Given the description of an element on the screen output the (x, y) to click on. 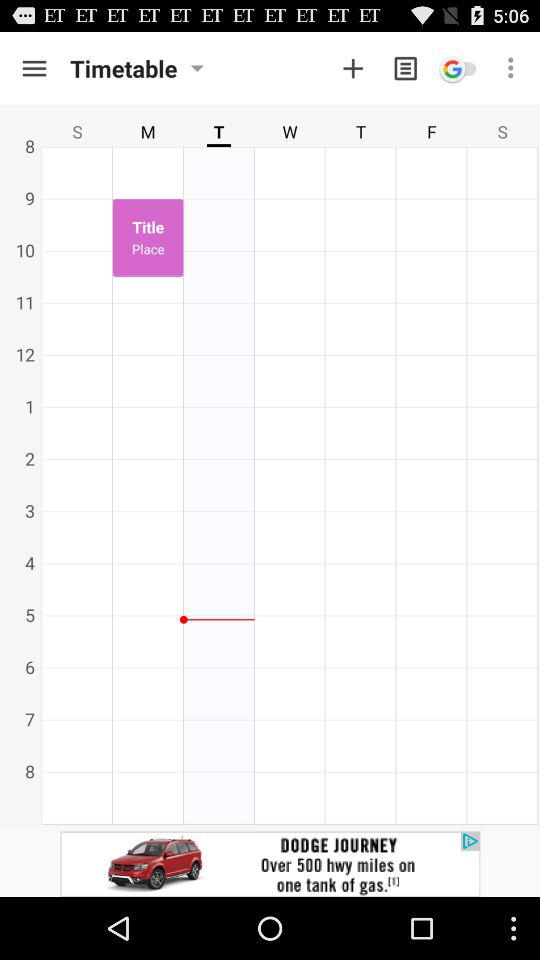
message option (405, 68)
